Given the description of an element on the screen output the (x, y) to click on. 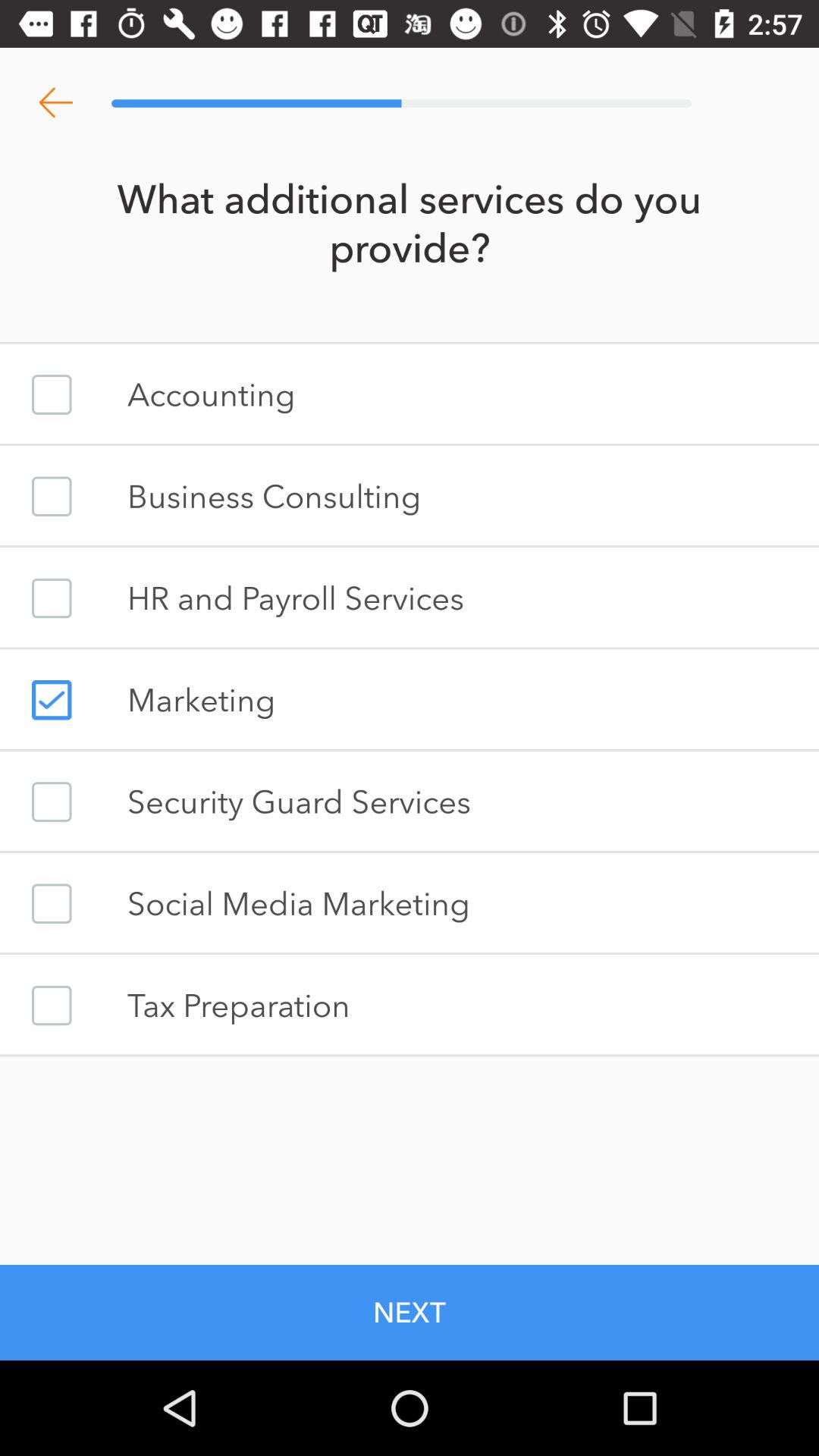
accounting button (51, 394)
